Given the description of an element on the screen output the (x, y) to click on. 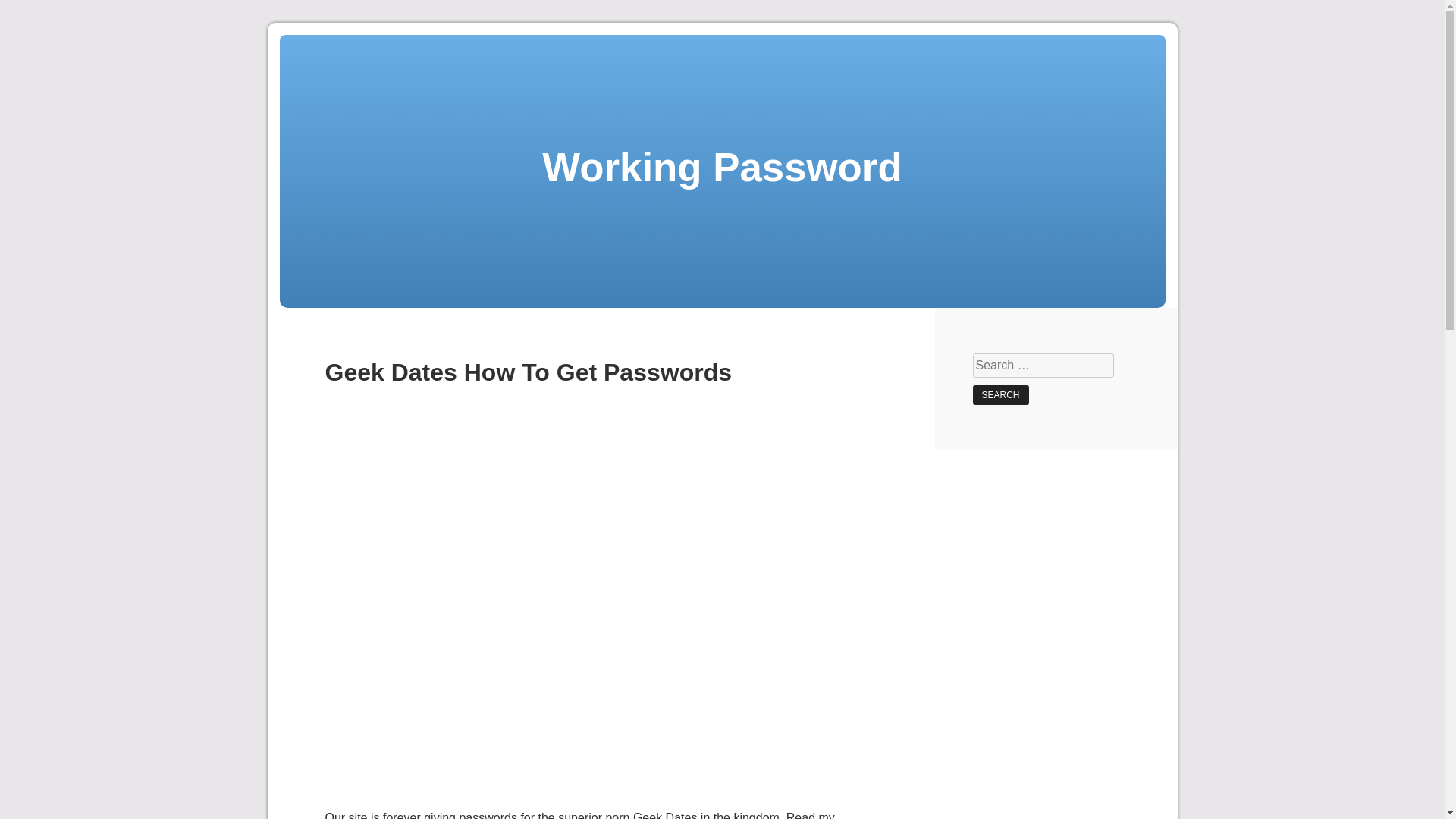
Working Password (721, 166)
Search (999, 394)
Search (999, 394)
Search (999, 394)
